Given the description of an element on the screen output the (x, y) to click on. 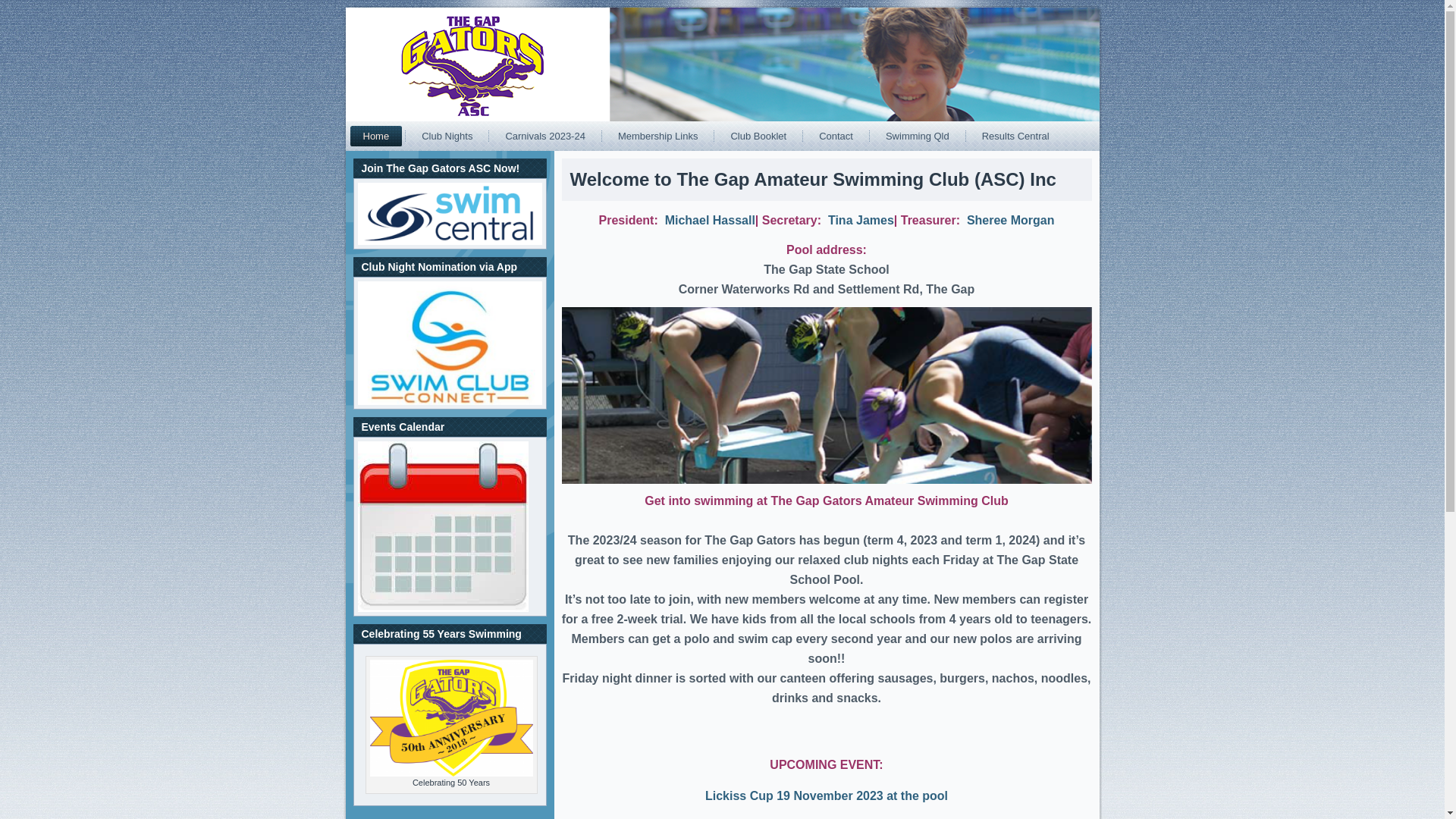
Tina James Element type: text (861, 219)
Contact Element type: text (836, 135)
Club Booklet Element type: text (758, 135)
Home Element type: text (376, 135)
Sheree Morgan Element type: text (1010, 219)
Lickiss Cup 19 November 2023 at the pool Element type: text (826, 795)
Join The Gap Gators ASC Now! Element type: hover (449, 213)
Membership Links Element type: text (658, 135)
Swimming Qld Element type: text (917, 135)
Club Night Nomination via App Element type: hover (449, 342)
Michael Hassall Element type: text (710, 219)
Results Central Element type: text (1015, 135)
Carnivals 2023-24 Element type: text (545, 135)
Club Nights Element type: text (446, 135)
